Given the description of an element on the screen output the (x, y) to click on. 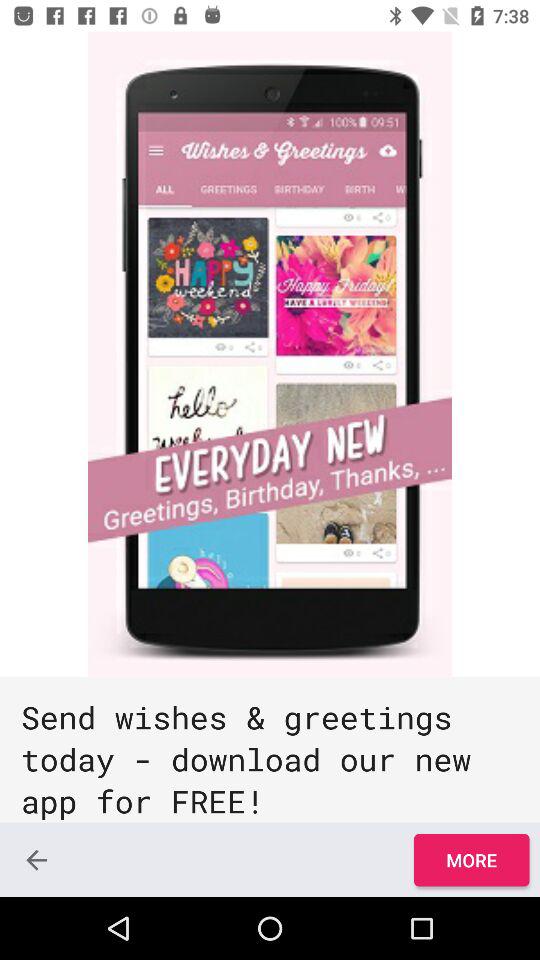
click item to the left of more item (36, 859)
